Given the description of an element on the screen output the (x, y) to click on. 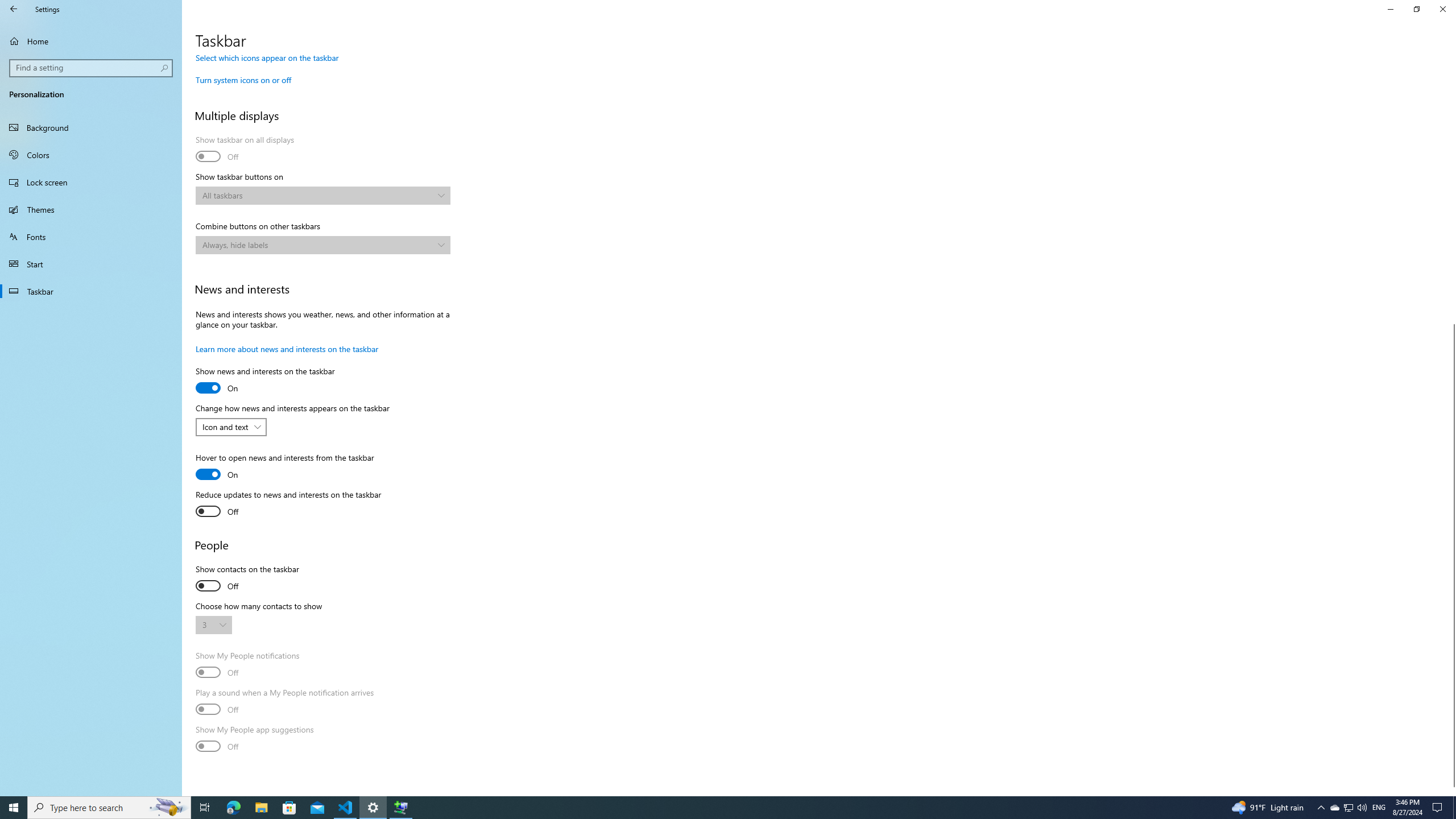
Choose how many contacts to show (213, 624)
Show My People notifications (247, 665)
Play a sound when a My People notification arrives (284, 702)
Lock screen (91, 181)
Icon and text (225, 426)
Always, hide labels (317, 244)
Background (91, 126)
